Given the description of an element on the screen output the (x, y) to click on. 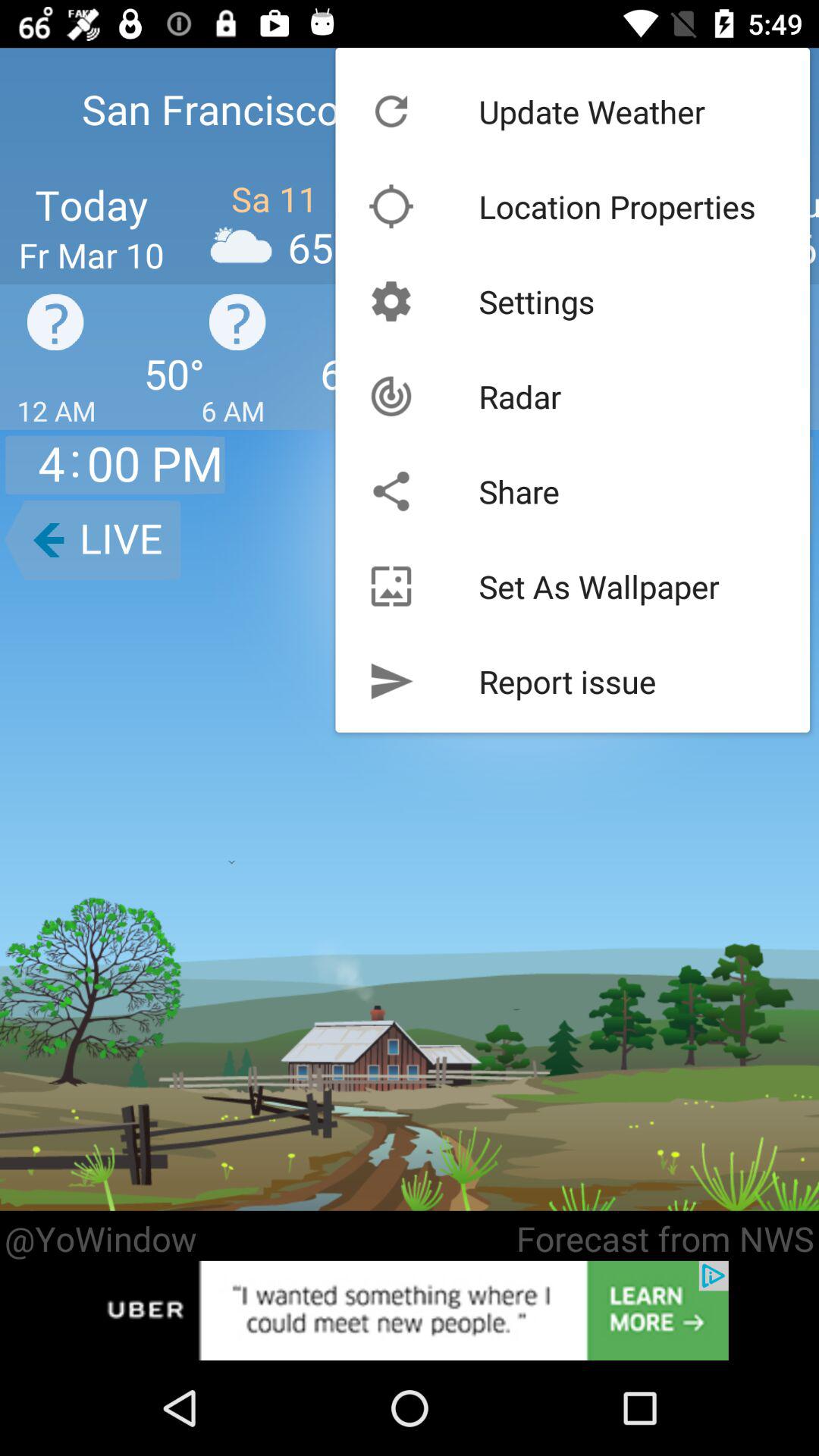
turn off the update weather icon (591, 111)
